Given the description of an element on the screen output the (x, y) to click on. 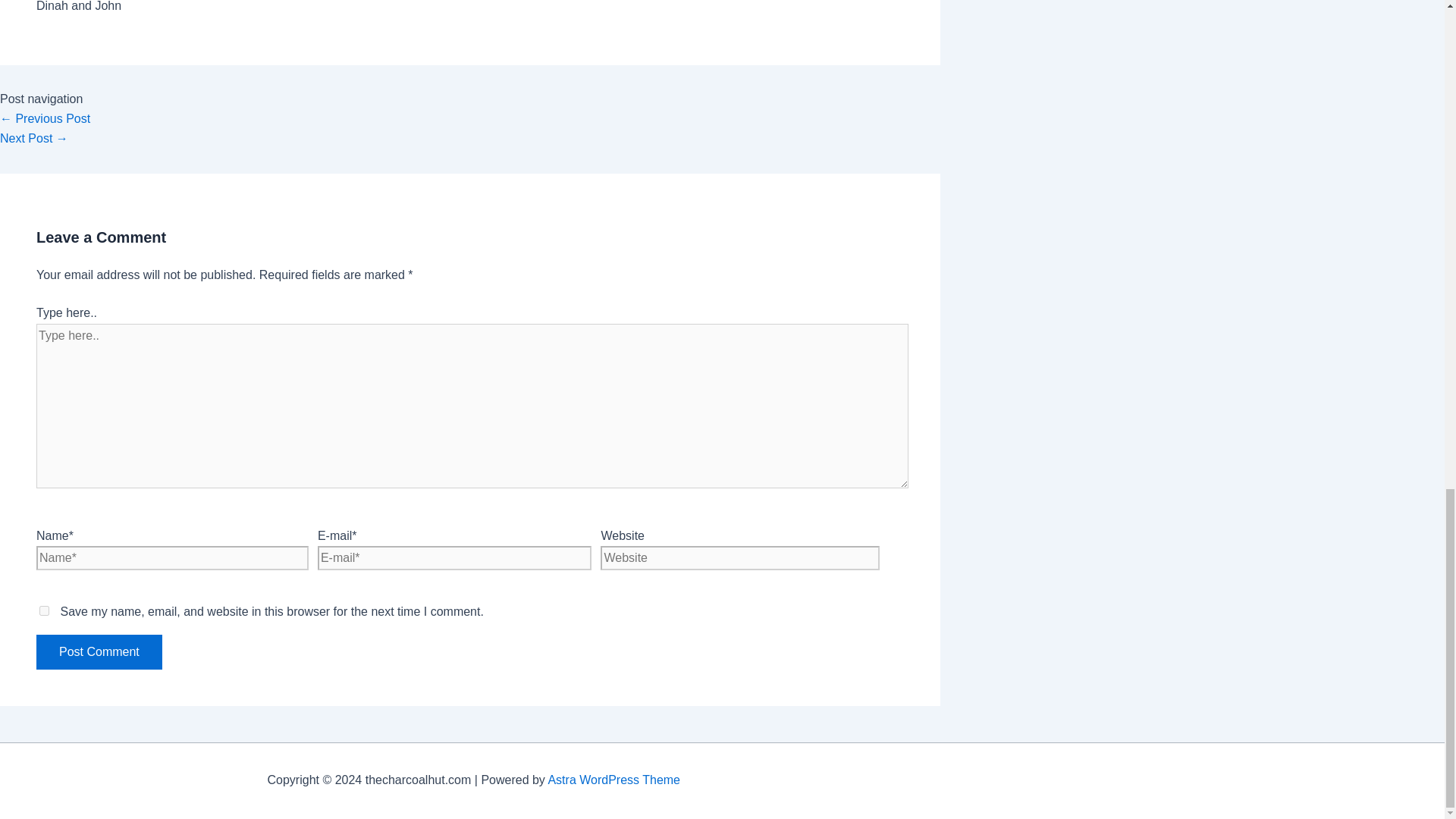
The Dragon's Garden Bookshop Llandovery (45, 118)
Astra WordPress Theme (613, 779)
yes (44, 610)
Post Comment (98, 651)
Post Comment (98, 651)
